Given the description of an element on the screen output the (x, y) to click on. 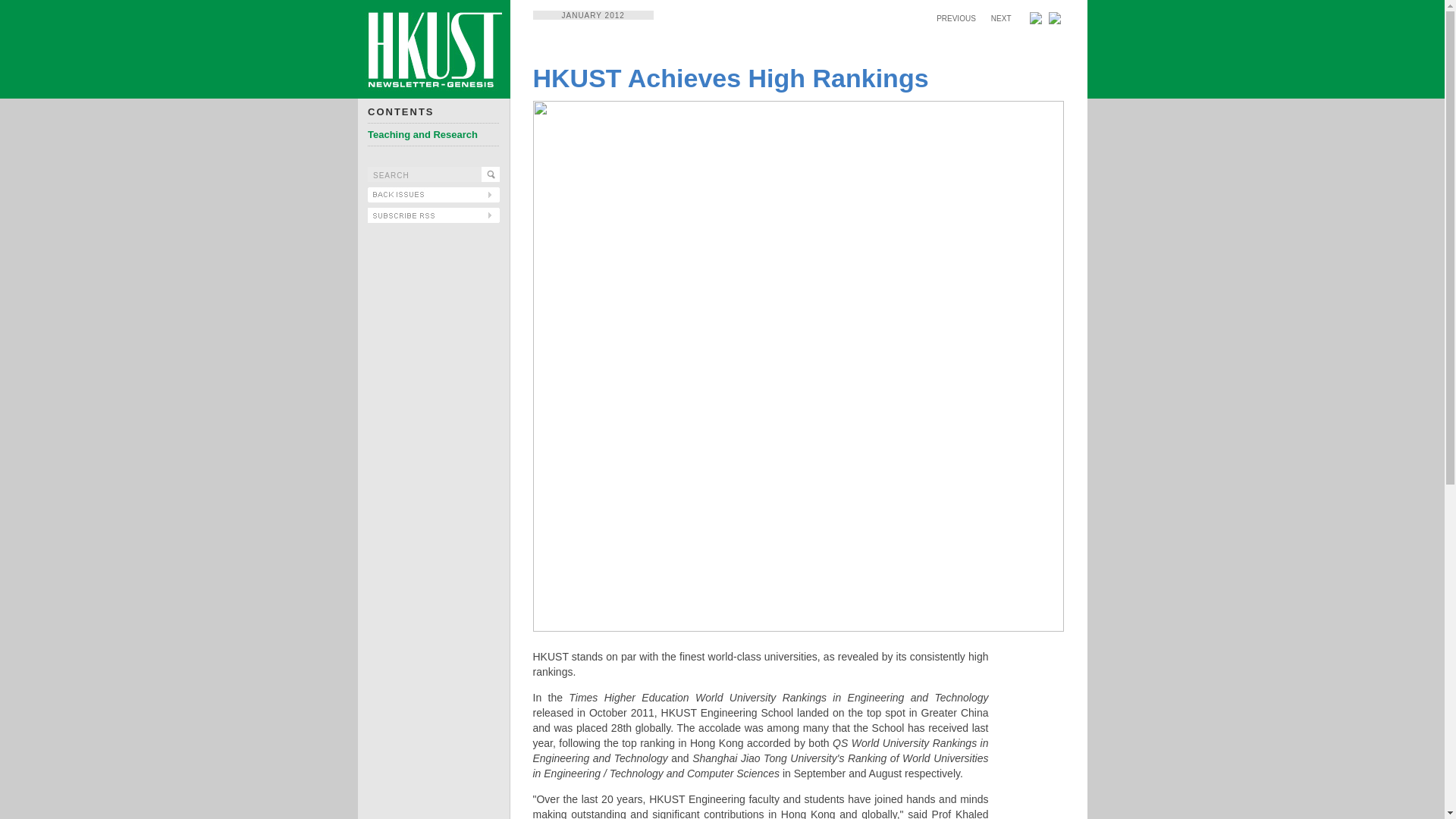
CONTENTS (400, 111)
Teaching and Research (422, 134)
NEXT (1001, 17)
SEARCH (424, 174)
PREVIOUS (955, 17)
